Given the description of an element on the screen output the (x, y) to click on. 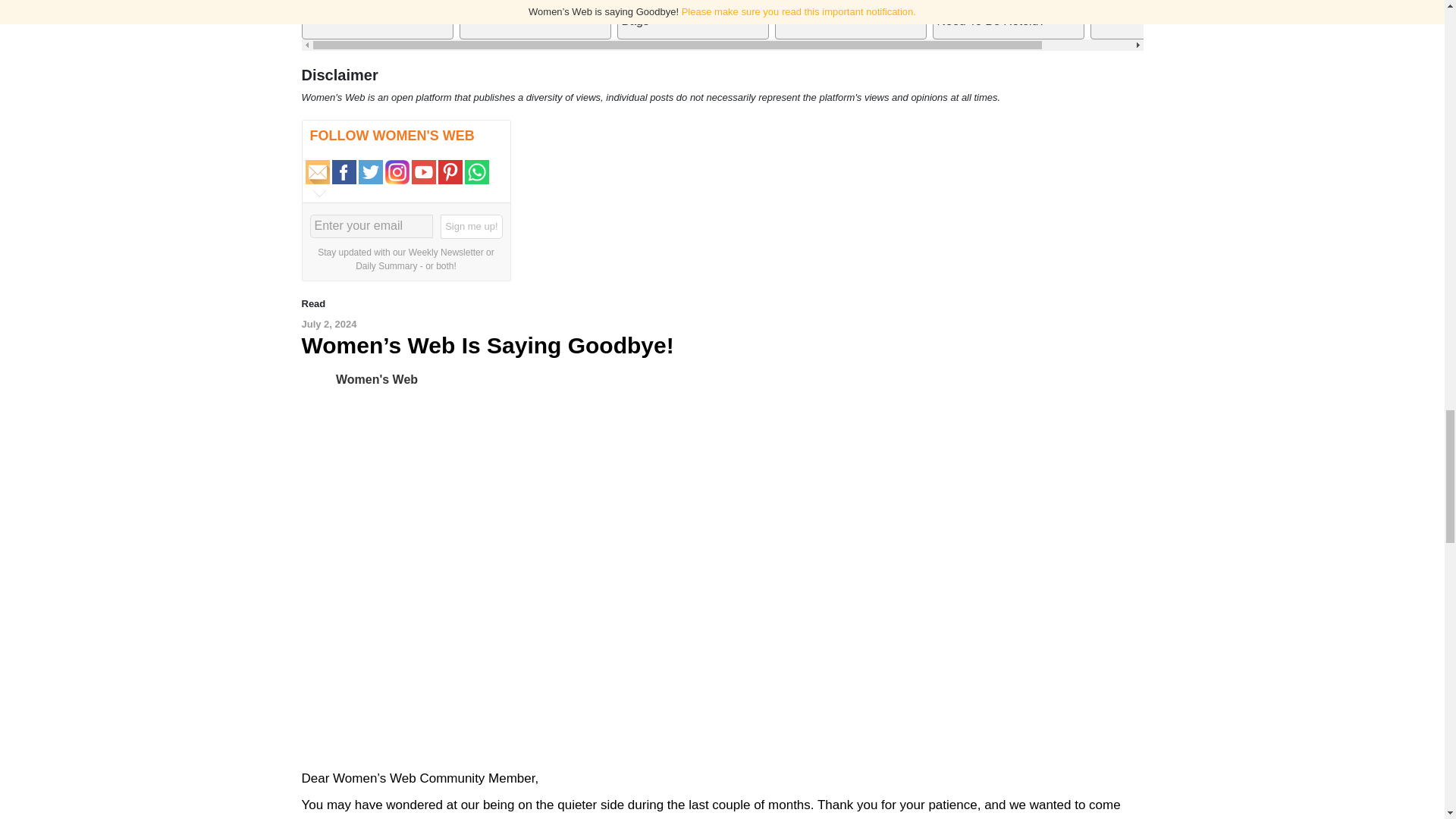
Women's Web (376, 378)
Sign me up! (471, 226)
Women's Web (318, 378)
